Given the description of an element on the screen output the (x, y) to click on. 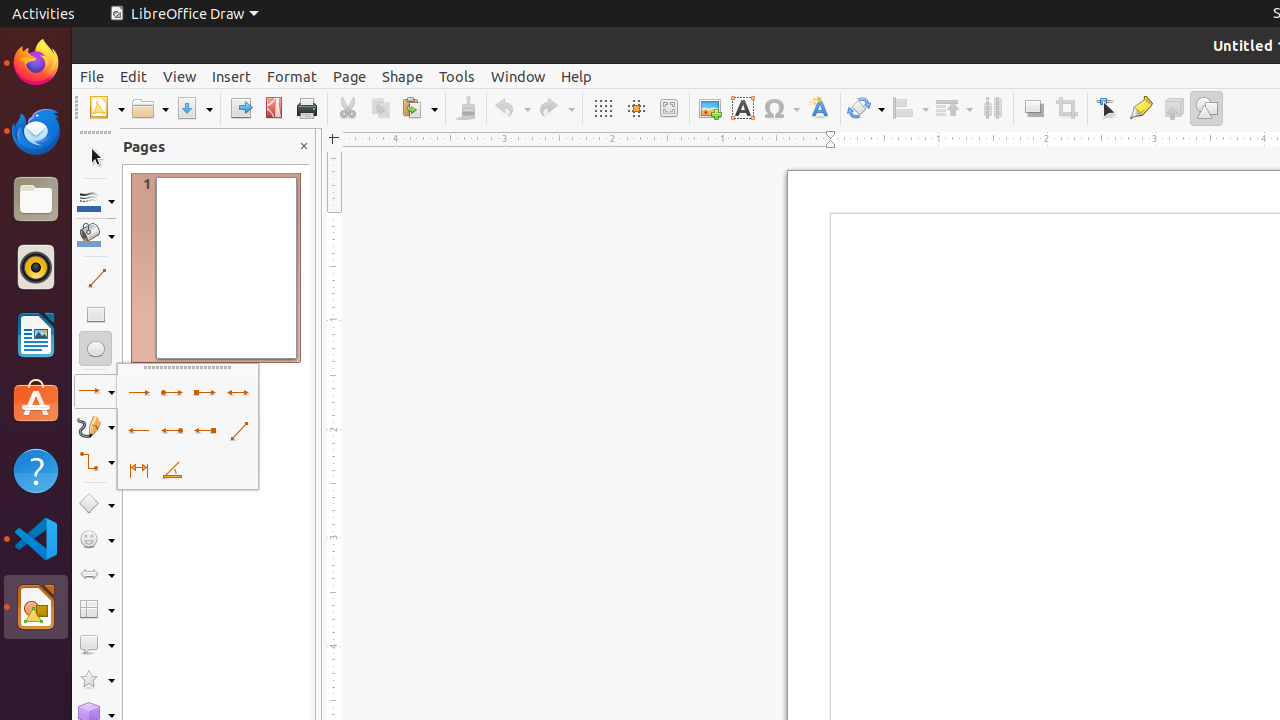
Ubuntu Software Element type: push-button (36, 402)
Insert Element type: menu (231, 76)
Close Pane Element type: push-button (303, 146)
Symbol Element type: push-button (781, 108)
Zoom & Pan Element type: push-button (668, 108)
